Given the description of an element on the screen output the (x, y) to click on. 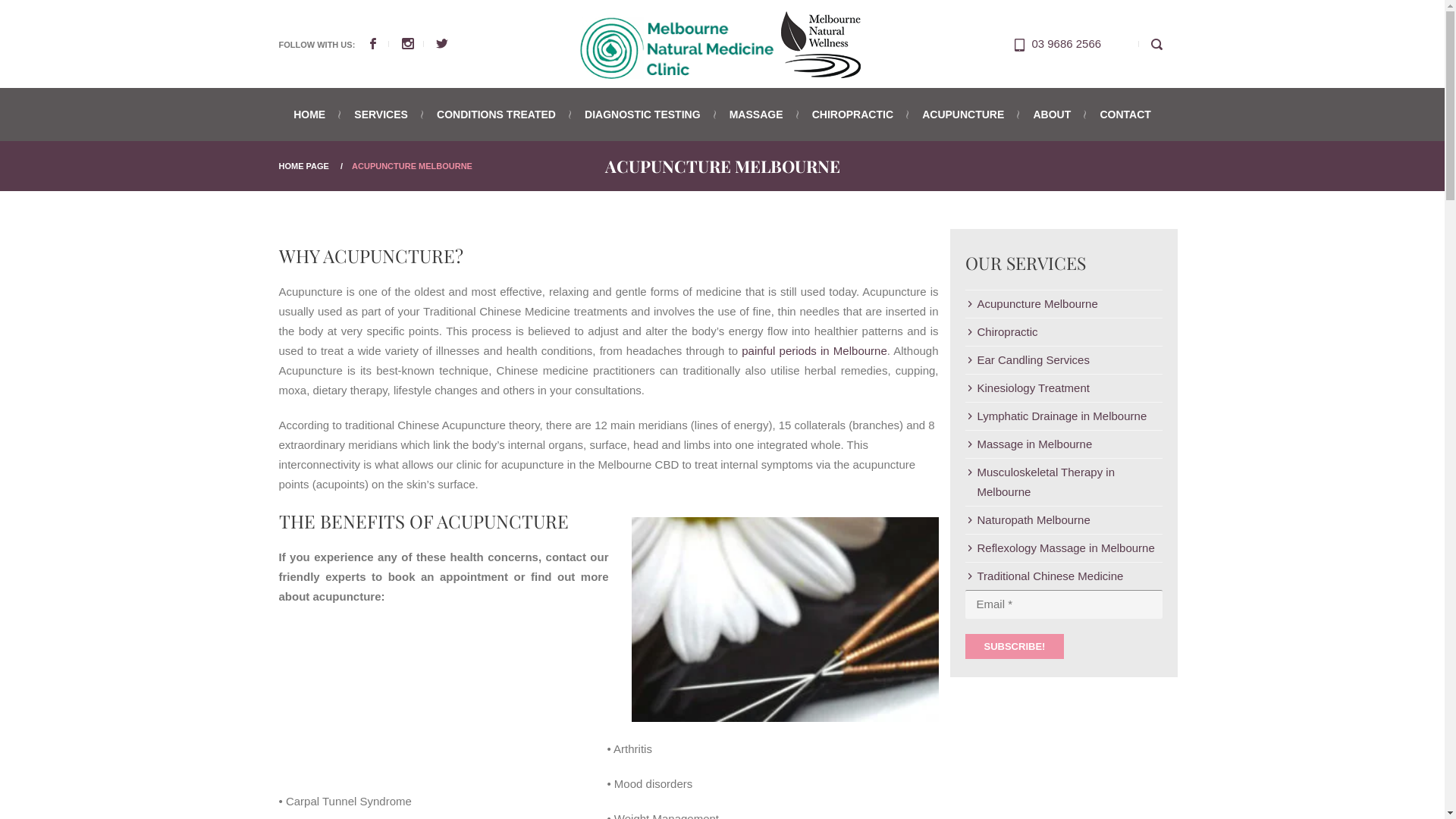
Musculoskeletal Therapy in Melbourne Element type: text (1062, 481)
Chiropractic Element type: text (1000, 331)
CHIROPRACTIC Element type: text (852, 114)
Facebook Element type: hover (382, 43)
HOME PAGE Element type: text (304, 165)
MASSAGE Element type: text (756, 114)
ACUPUNCTURE Element type: text (962, 114)
Ear Candling Services Element type: text (1026, 359)
Acupuncture Melbourne Element type: hover (722, 43)
SERVICES Element type: text (380, 114)
CONTACT Element type: text (1118, 114)
Lymphatic Drainage in Melbourne Element type: text (1055, 415)
DIAGNOSTIC TESTING Element type: text (641, 114)
03 9686 2566 Element type: hover (1021, 43)
ABOUT Element type: text (1051, 114)
Traditional Chinese Medicine Element type: text (1043, 575)
Reflexology Massage in Melbourne Element type: text (1059, 547)
Acupuncture Melbourne Element type: hover (722, 43)
Acupuncture Melbourne Element type: text (1030, 303)
HOME Element type: text (315, 114)
Twitter Element type: hover (442, 43)
Subscribe! Element type: text (1013, 645)
Instagram Element type: hover (417, 43)
Naturopath Melbourne Element type: text (1026, 519)
Search Element type: hover (1158, 43)
Email Element type: hover (1062, 603)
Acupuncture Melbourne Element type: hover (773, 623)
03 9686 2566 Element type: text (1066, 43)
Massage in Melbourne Element type: text (1028, 444)
Kinesiology Treatment Element type: text (1026, 387)
painful periods in Melbourne Element type: text (814, 350)
CONDITIONS TREATED Element type: text (495, 114)
